Given the description of an element on the screen output the (x, y) to click on. 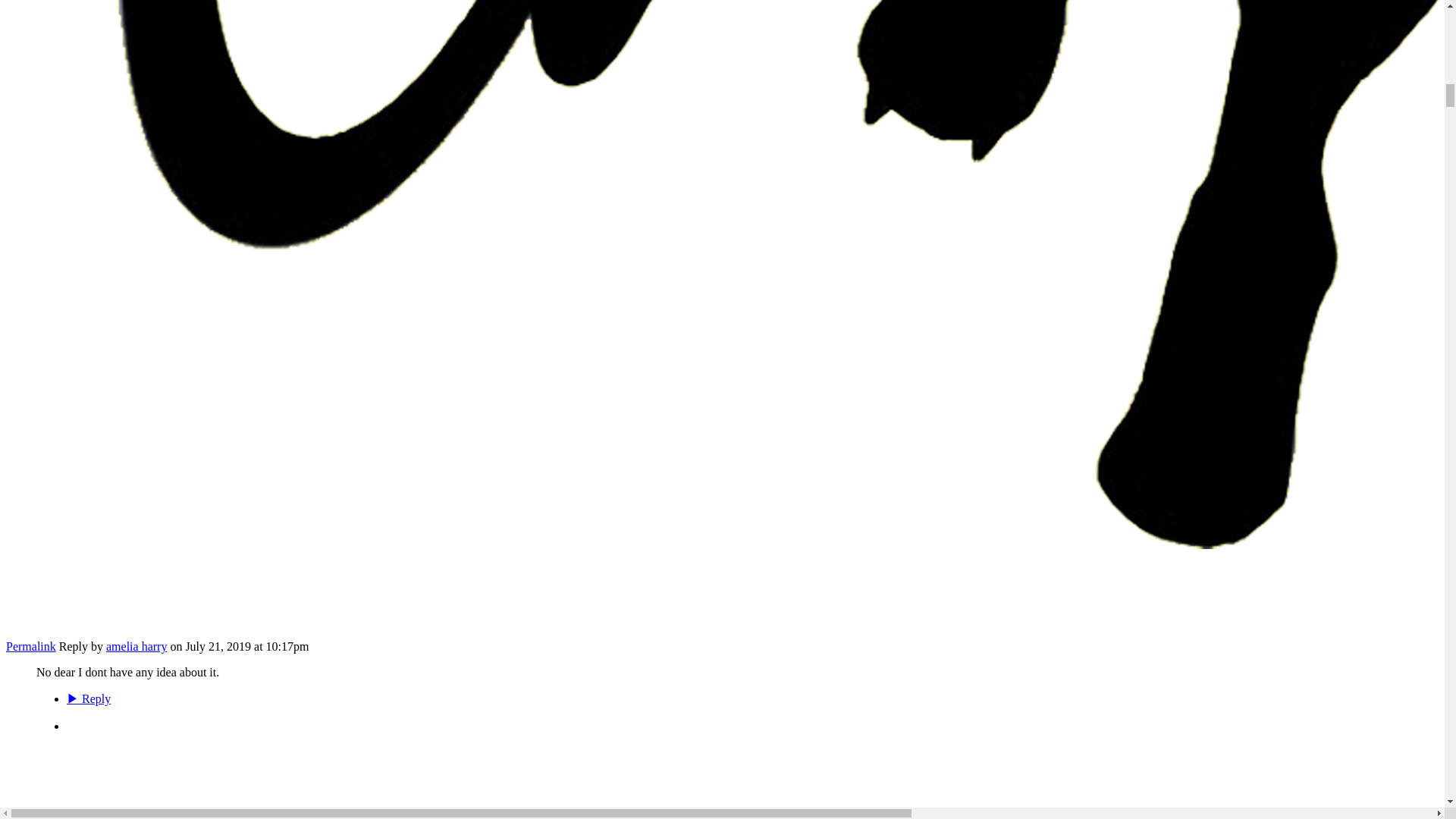
amelia harry (136, 645)
Permalink (30, 645)
Permalink to this Reply (30, 645)
